Given the description of an element on the screen output the (x, y) to click on. 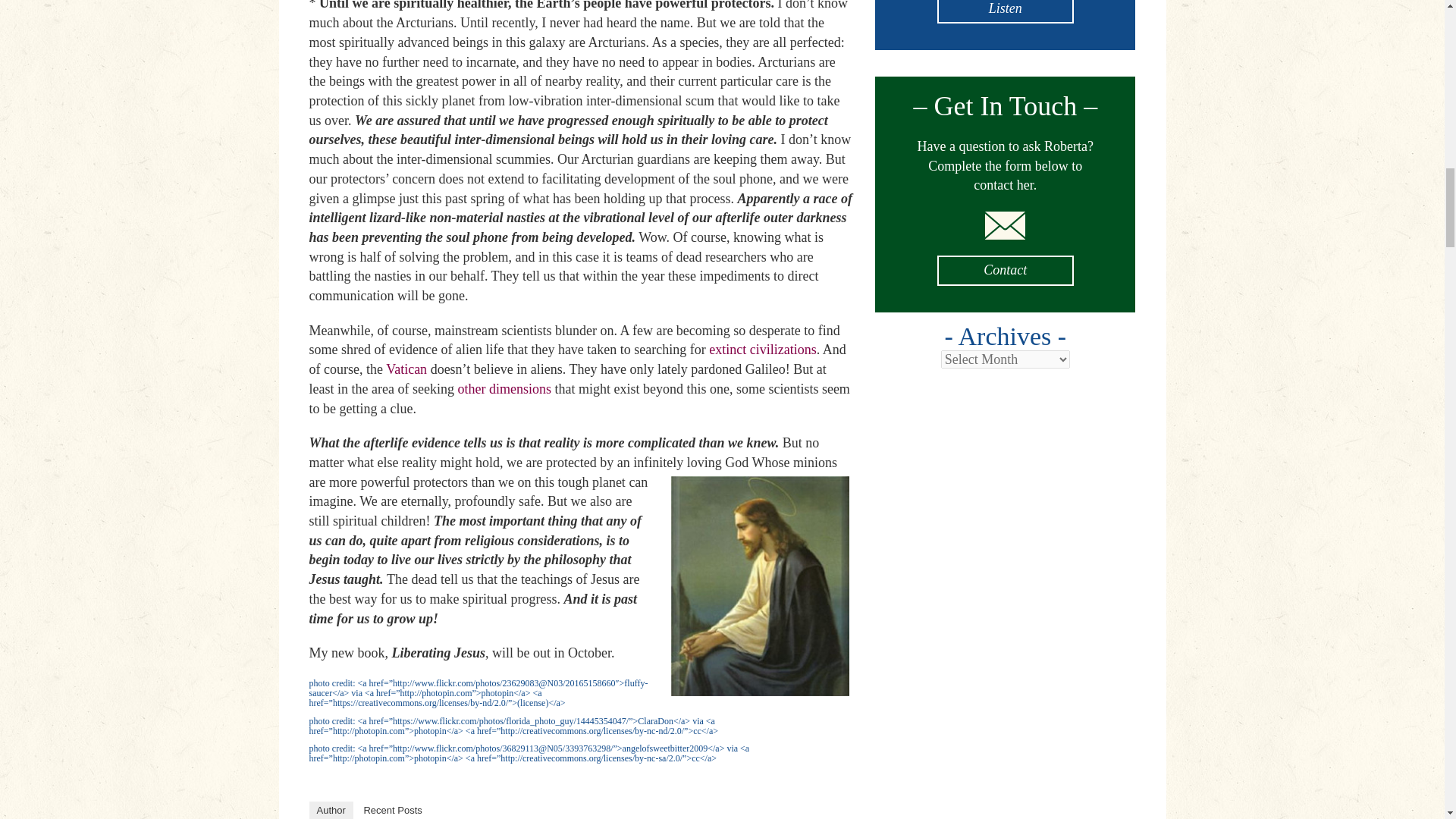
other dimensions (504, 388)
extinct civilizations (762, 349)
Vatican (405, 368)
Author (330, 810)
Recent Posts (392, 810)
